Given the description of an element on the screen output the (x, y) to click on. 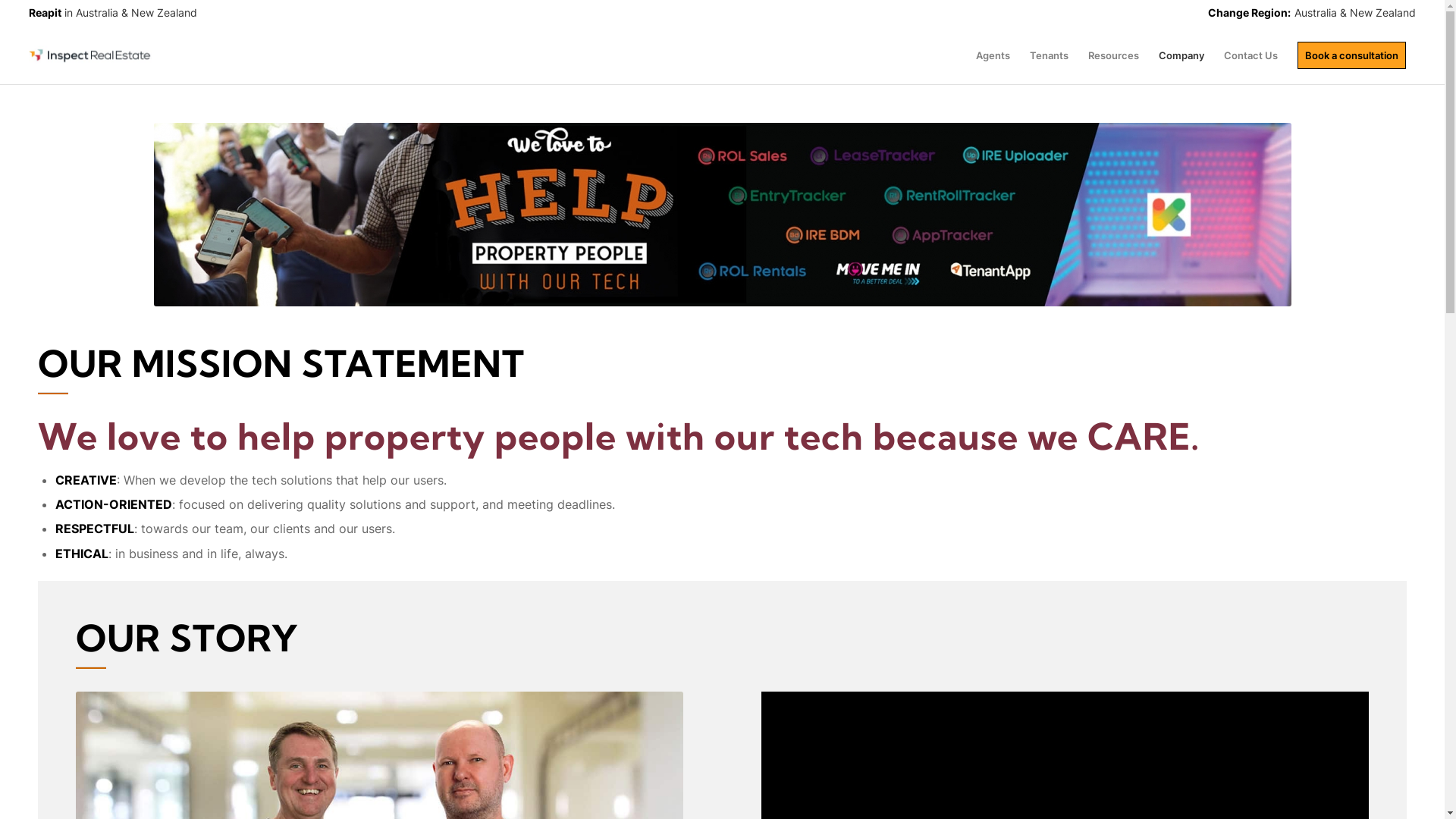
Inspect Real Estate RGBwebsite Element type: hover (90, 55)
Book a consultation Element type: text (1351, 55)
Agents Element type: text (992, 55)
Contact Us Element type: text (1250, 55)
banner Element type: hover (721, 214)
Tenants Element type: text (1048, 55)
Company Element type: text (1181, 55)
Resources Element type: text (1113, 55)
